Given the description of an element on the screen output the (x, y) to click on. 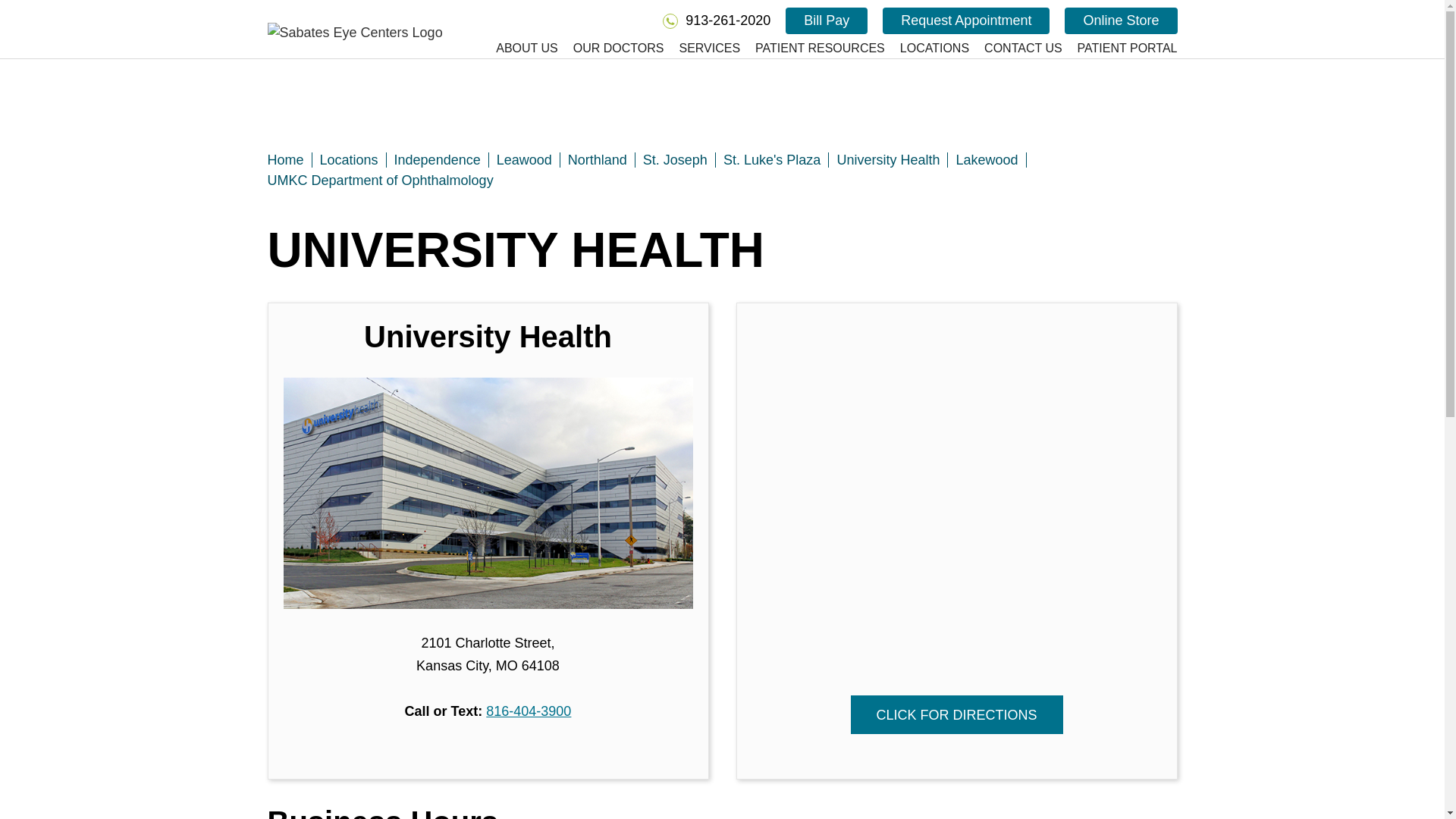
Our Doctors (610, 48)
Click Here to Access Our Online Bill Pay (826, 20)
Click Here to Access Our Appointment Request Form (965, 20)
PATIENT RESOURCES (812, 48)
SERVICES (701, 48)
Sabates Eye Centers - Click Here For the Homepage (354, 33)
Call or Text 913-261-2020 (716, 20)
Bill Pay (826, 20)
About Sabates Eye Centers (518, 48)
913-261-2020 (716, 20)
Online Store (1120, 20)
ABOUT US (518, 48)
OUR DOCTORS (610, 48)
Request Appointment (965, 20)
LOCATIONS (927, 48)
